Given the description of an element on the screen output the (x, y) to click on. 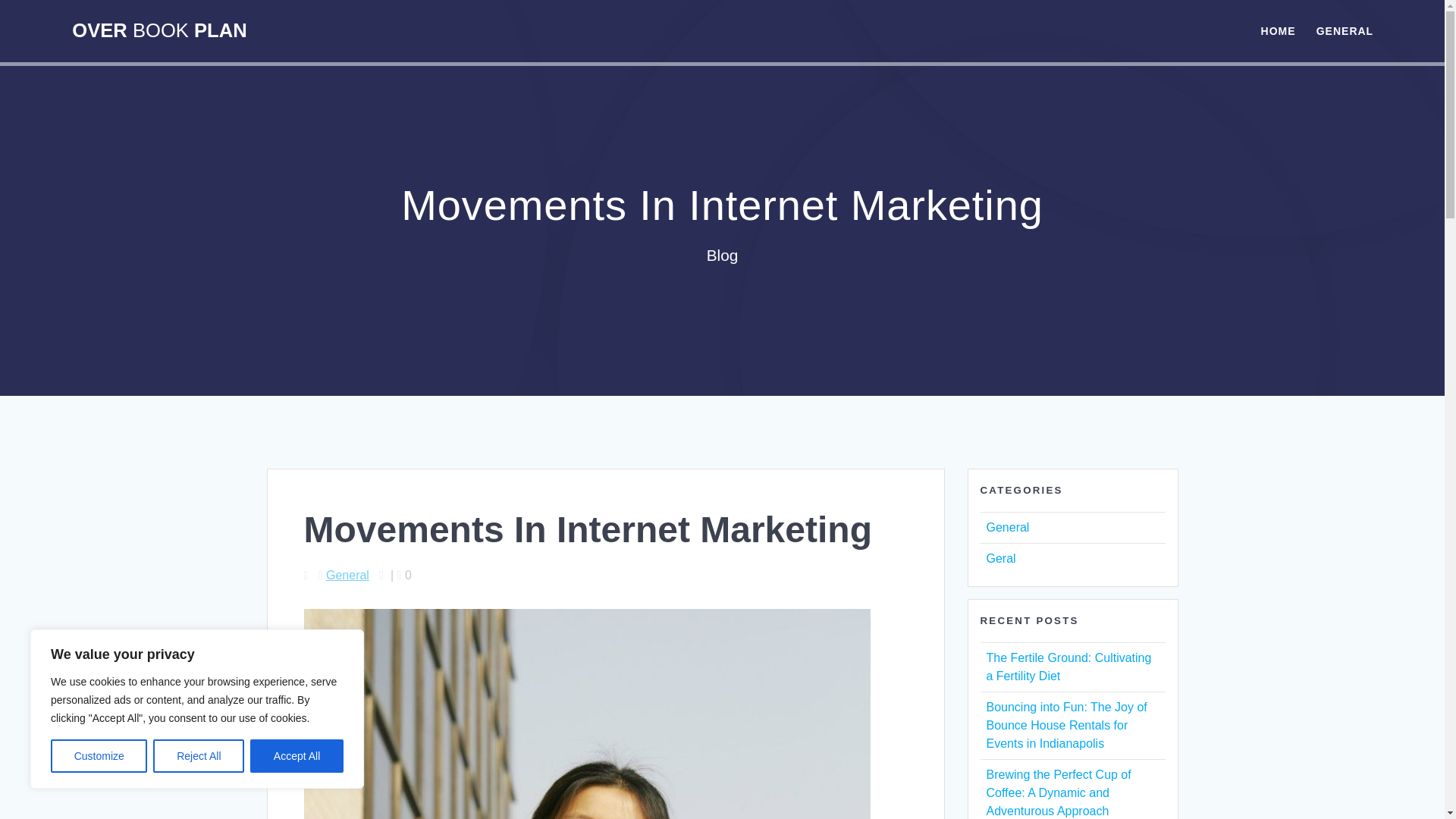
GENERAL (1344, 30)
General (1007, 526)
General (347, 574)
Accept All (296, 756)
HOME (1277, 30)
Geral (999, 558)
Customize (98, 756)
OVER BOOK PLAN (158, 30)
